Given the description of an element on the screen output the (x, y) to click on. 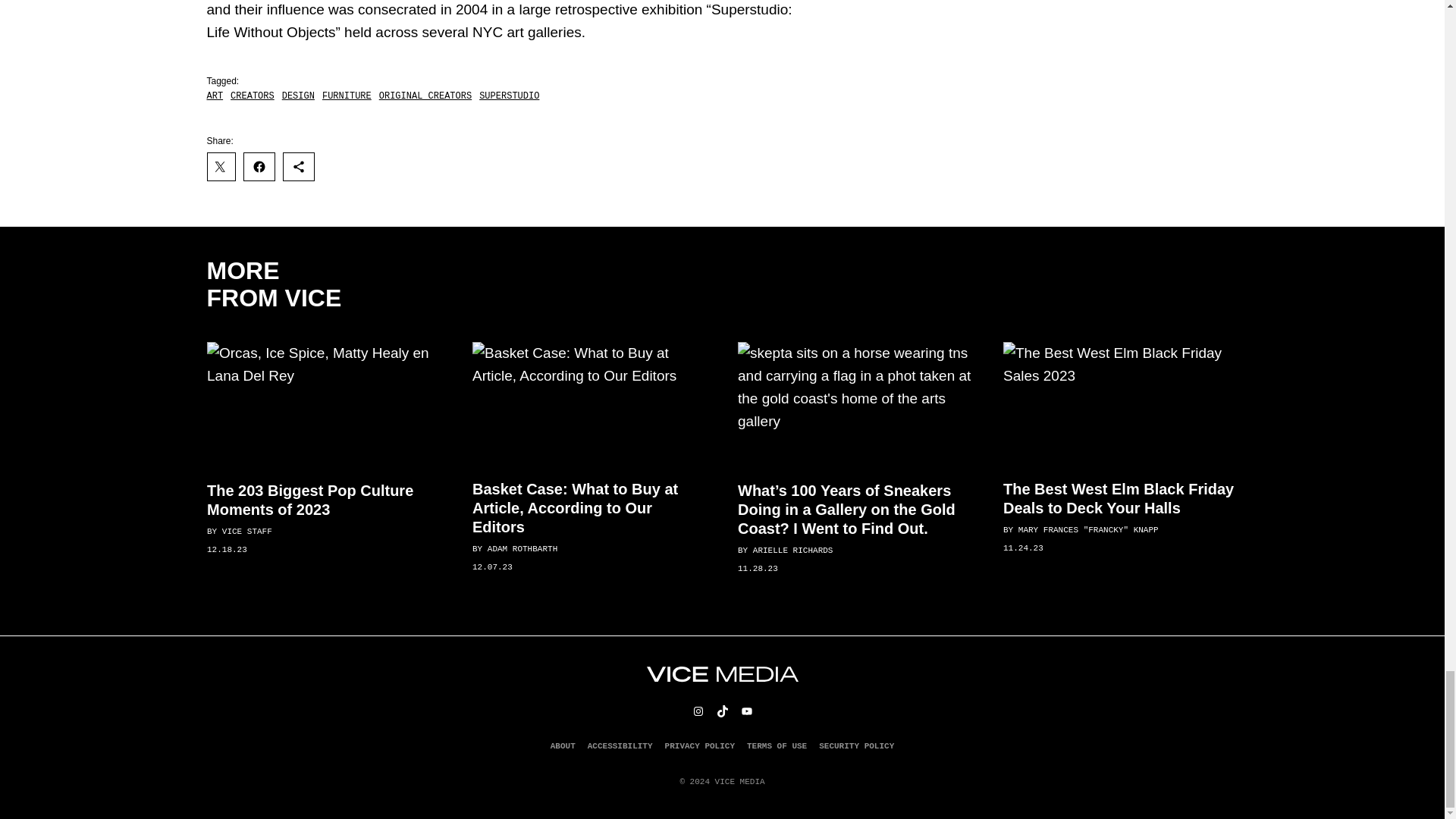
Posts by Arielle Richards (792, 550)
Posts by Mary Frances "Francky" Knapp (1087, 529)
Posts by Adam Rothbarth (521, 548)
Posts by VICE Staff (245, 531)
